Given the description of an element on the screen output the (x, y) to click on. 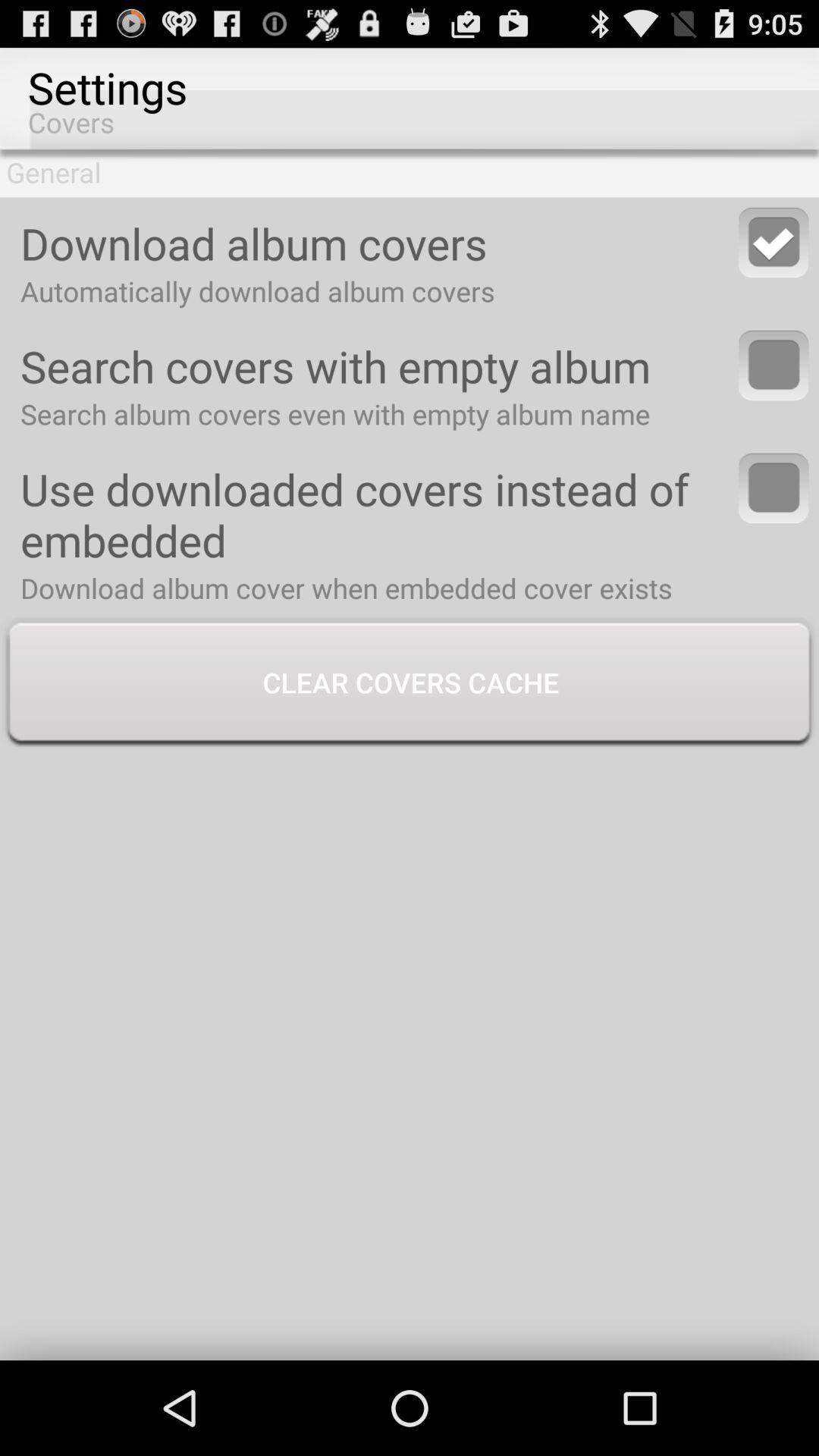
turn off clear covers cache (409, 684)
